Given the description of an element on the screen output the (x, y) to click on. 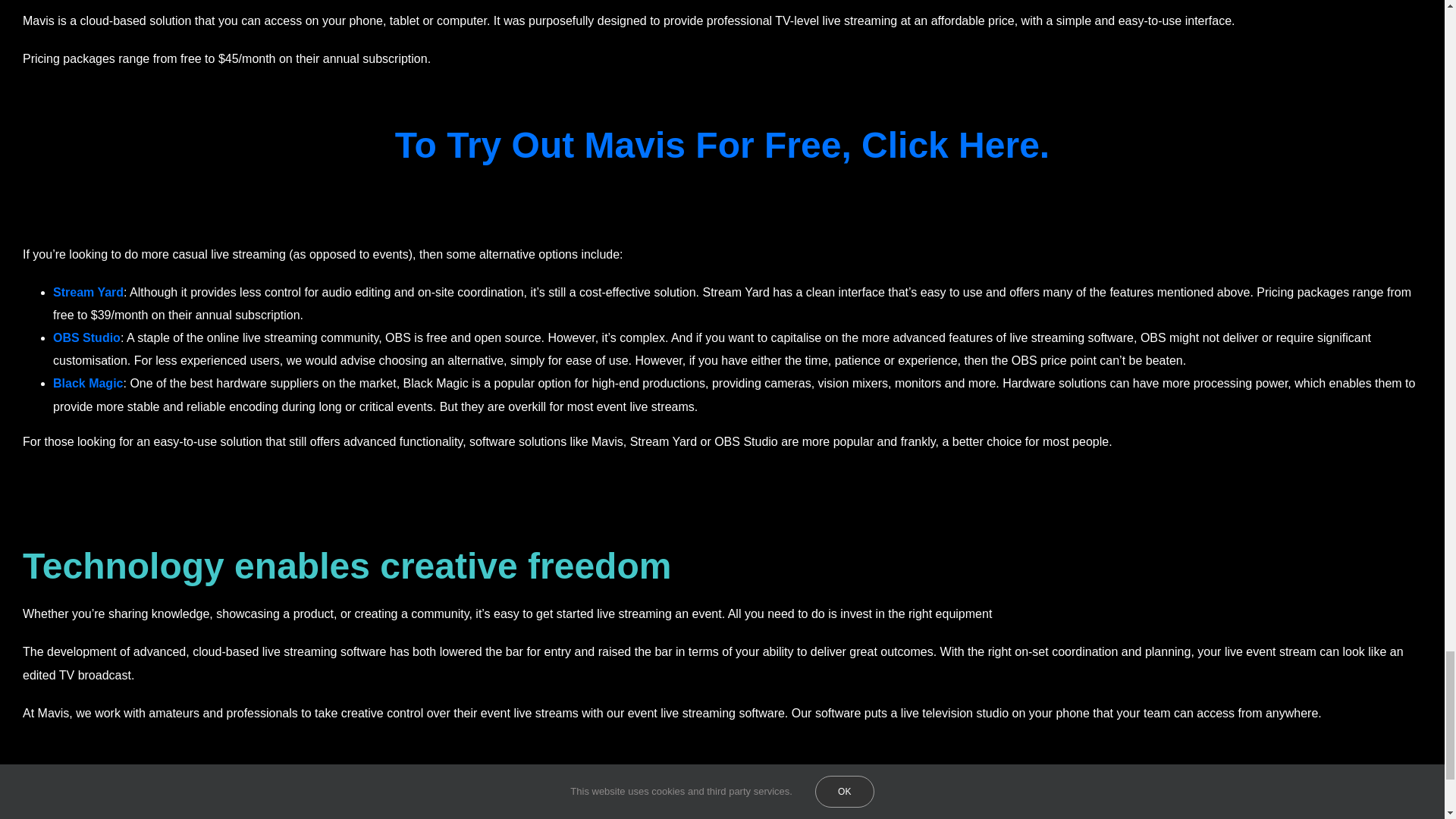
To Try Out Mavis For Free, Click Here. (721, 145)
OBS Studio (86, 337)
Black Magic (87, 382)
Stream Yard (87, 291)
